Given the description of an element on the screen output the (x, y) to click on. 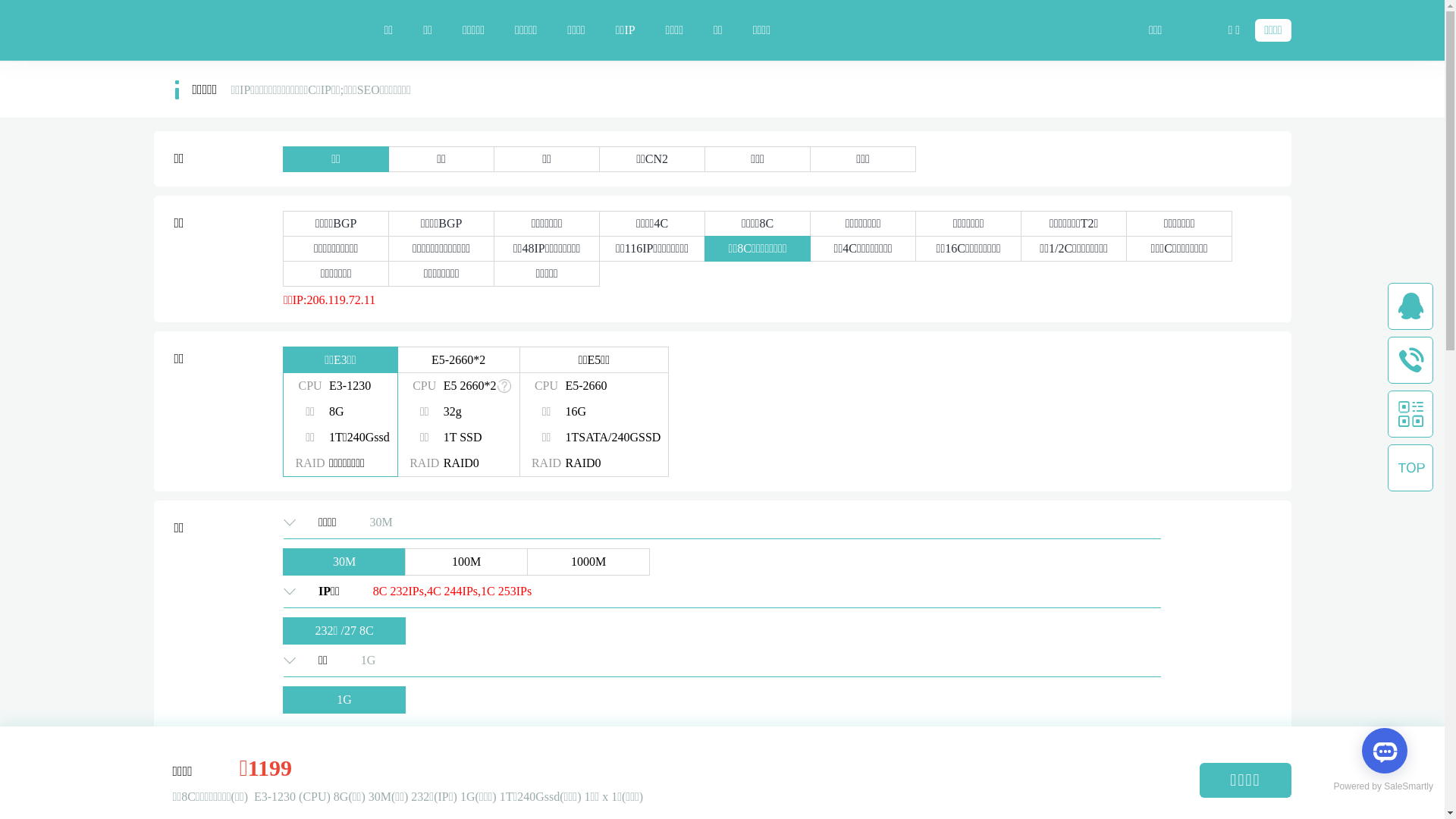
qq Element type: hover (1410, 305)
